Given the description of an element on the screen output the (x, y) to click on. 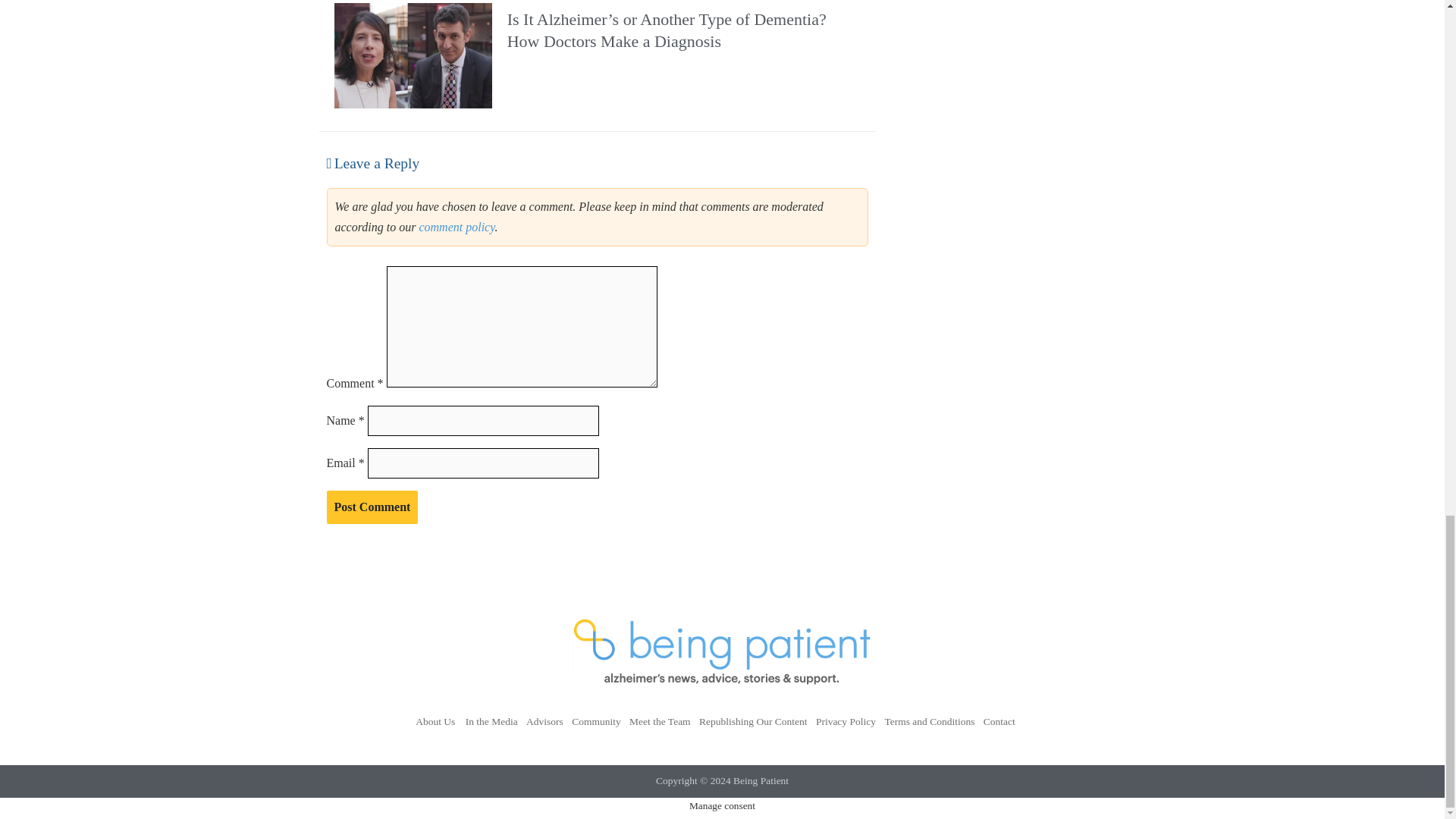
Post Comment (371, 507)
